Given the description of an element on the screen output the (x, y) to click on. 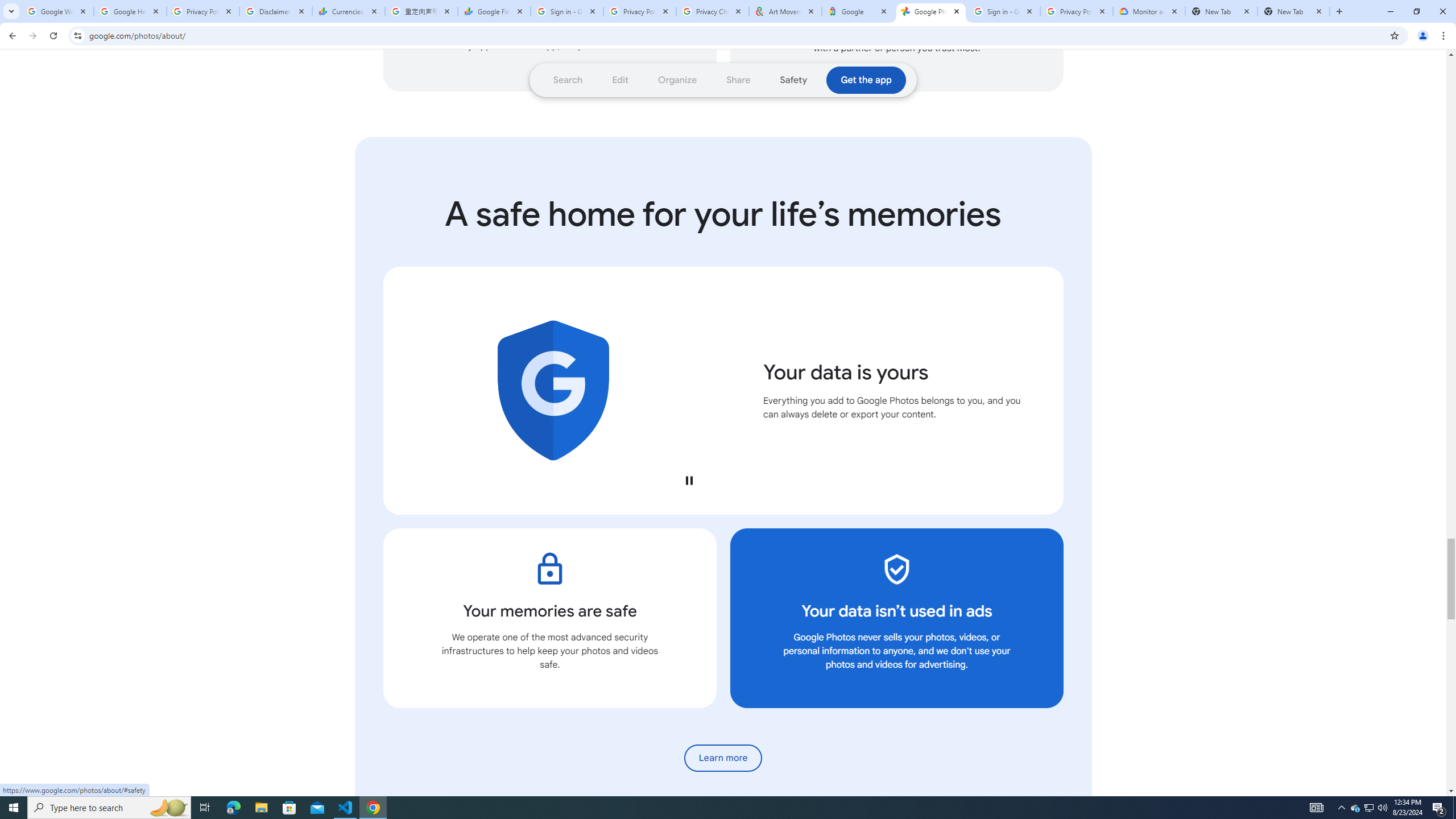
Play video (688, 479)
Learn more about Google Photos security  (723, 757)
Go to section: Safety (793, 80)
Address and search bar (735, 35)
Sign in - Google Accounts (1003, 11)
A checkmark icon. (896, 568)
